Given the description of an element on the screen output the (x, y) to click on. 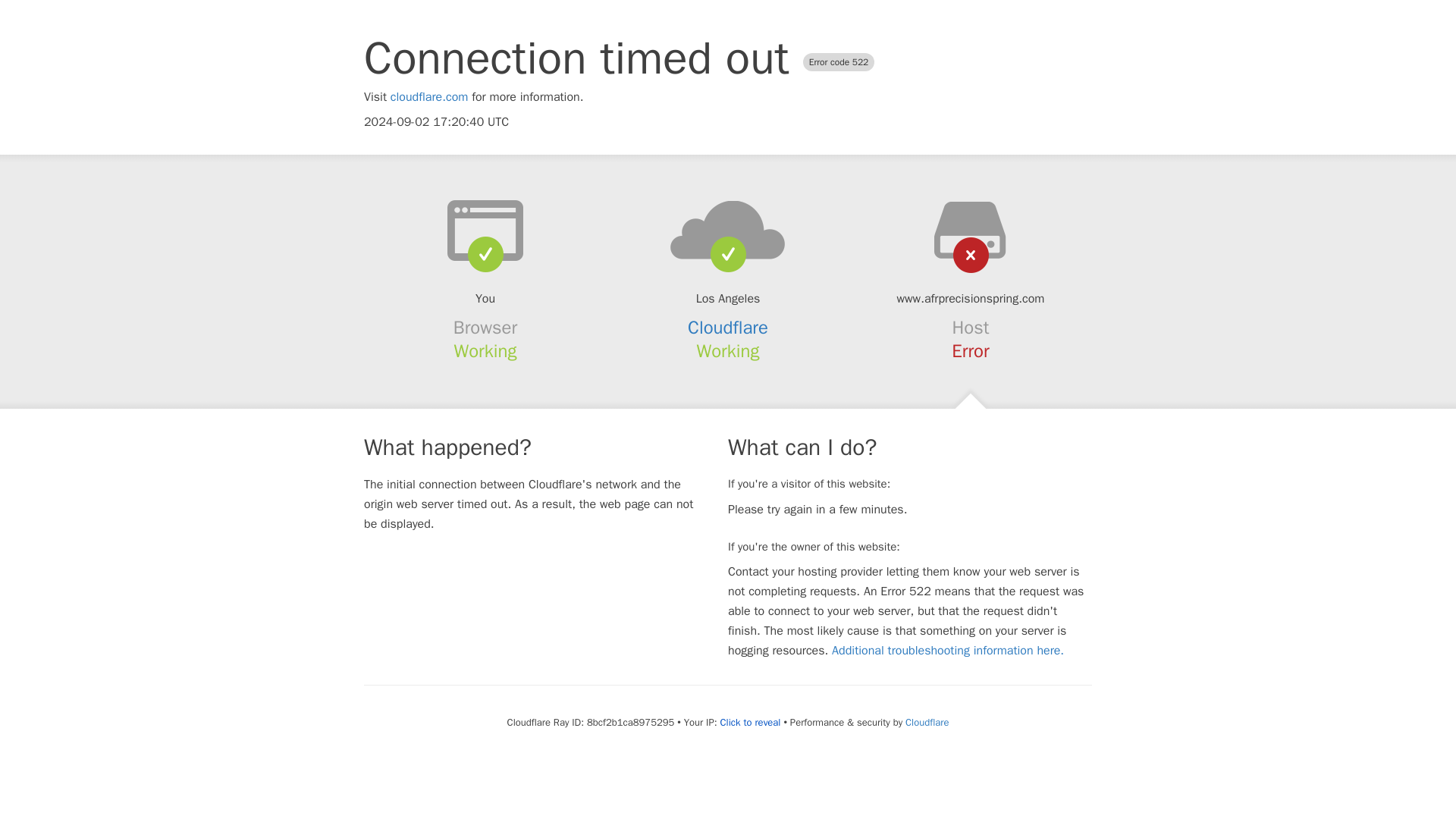
cloudflare.com (429, 96)
Additional troubleshooting information here. (947, 650)
Cloudflare (727, 327)
Cloudflare (927, 721)
Click to reveal (750, 722)
